Given the description of an element on the screen output the (x, y) to click on. 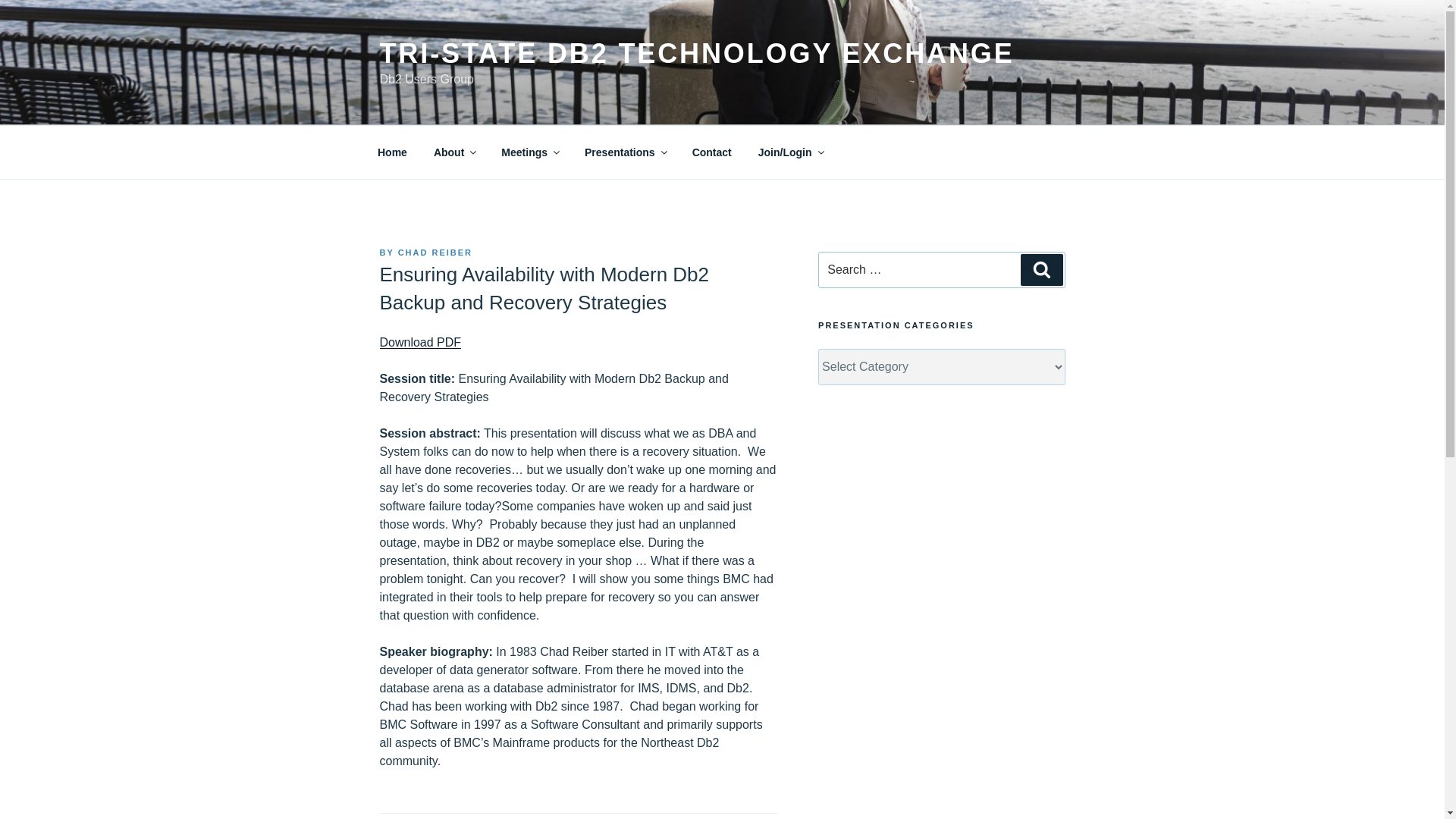
TRI-STATE DB2 TECHNOLOGY EXCHANGE (695, 52)
About (453, 151)
Meetings (529, 151)
Home (392, 151)
